Given the description of an element on the screen output the (x, y) to click on. 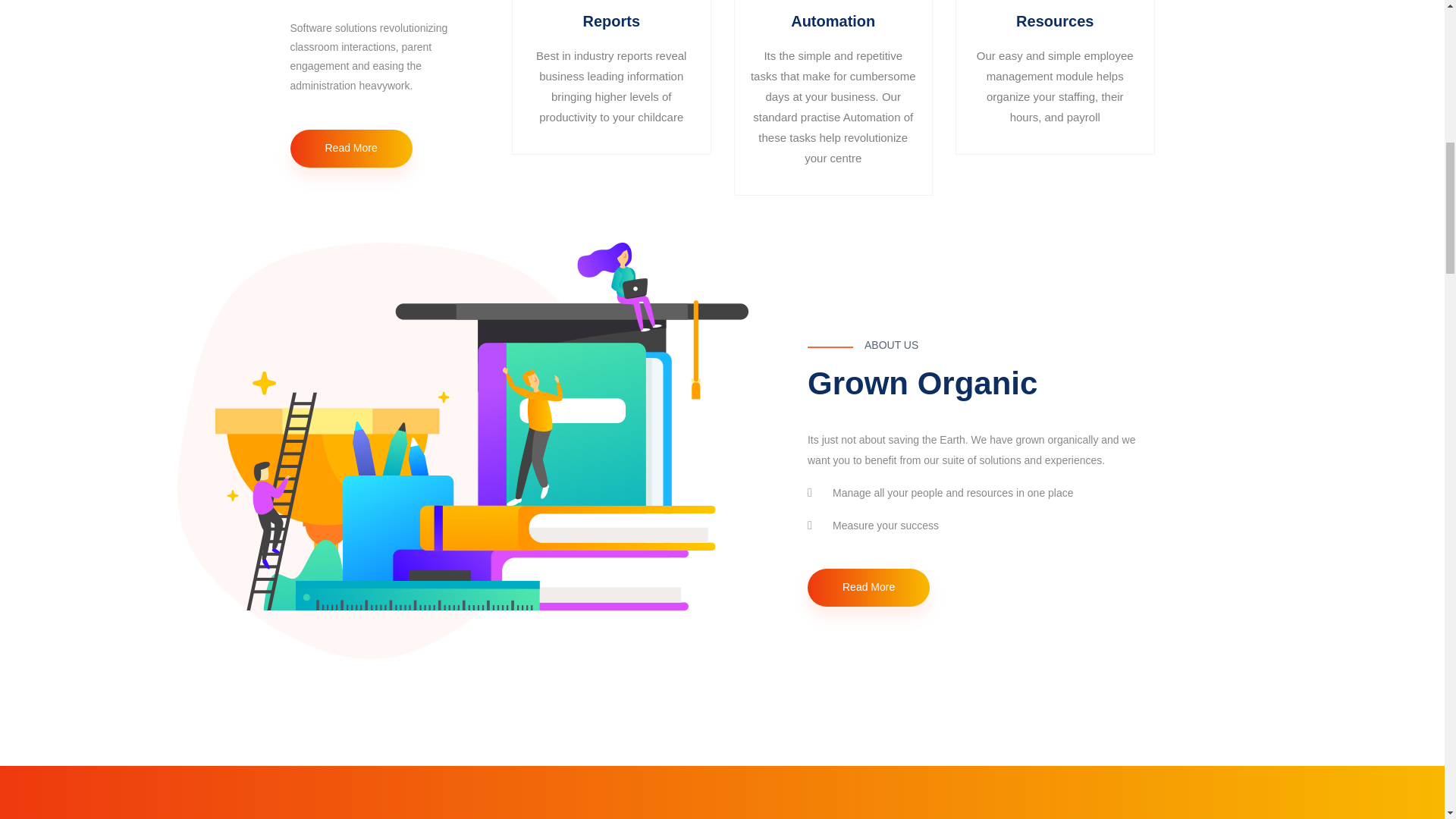
Read More (869, 587)
Read More (350, 148)
